Given the description of an element on the screen output the (x, y) to click on. 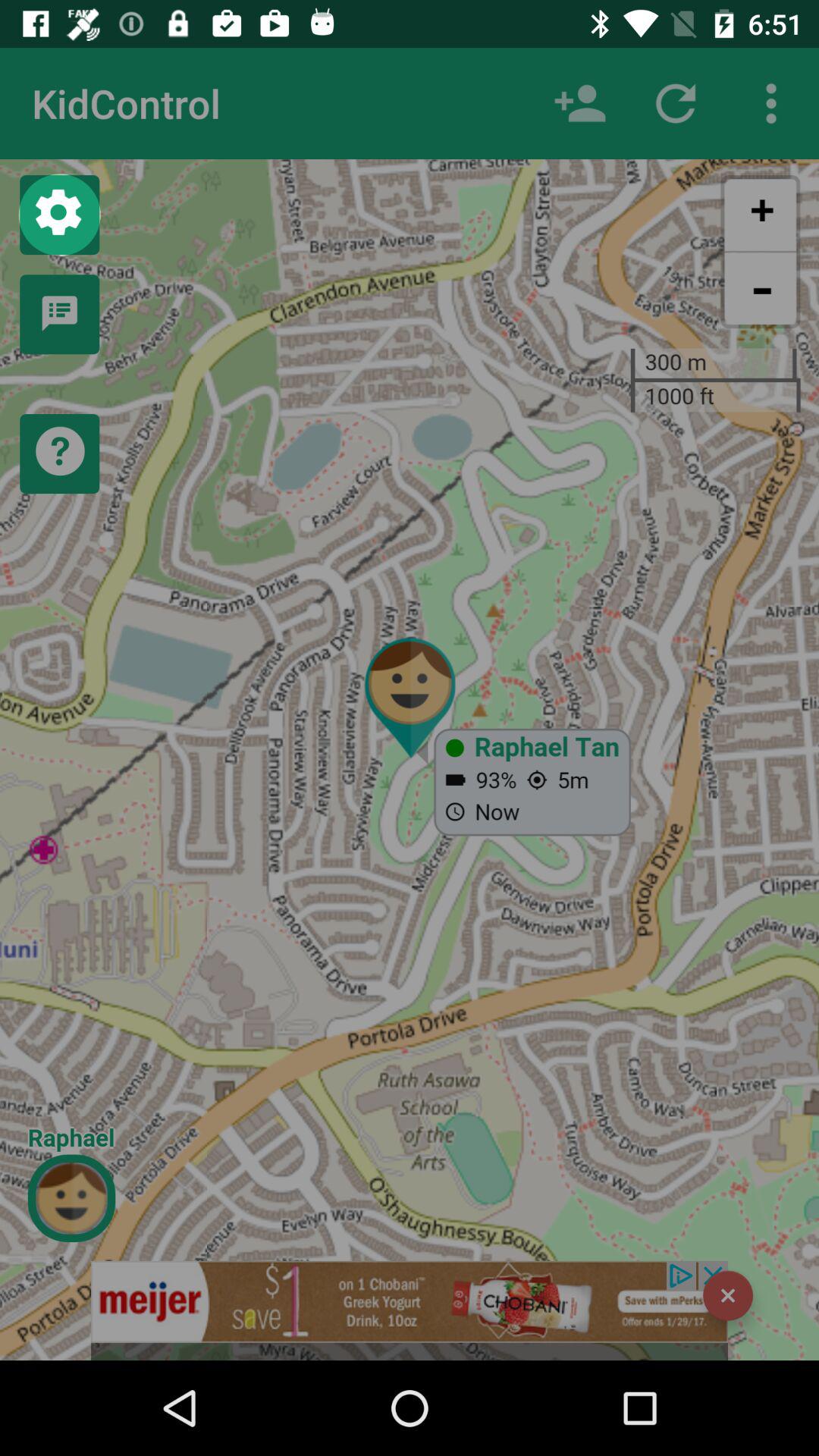
add new child (579, 103)
